Given the description of an element on the screen output the (x, y) to click on. 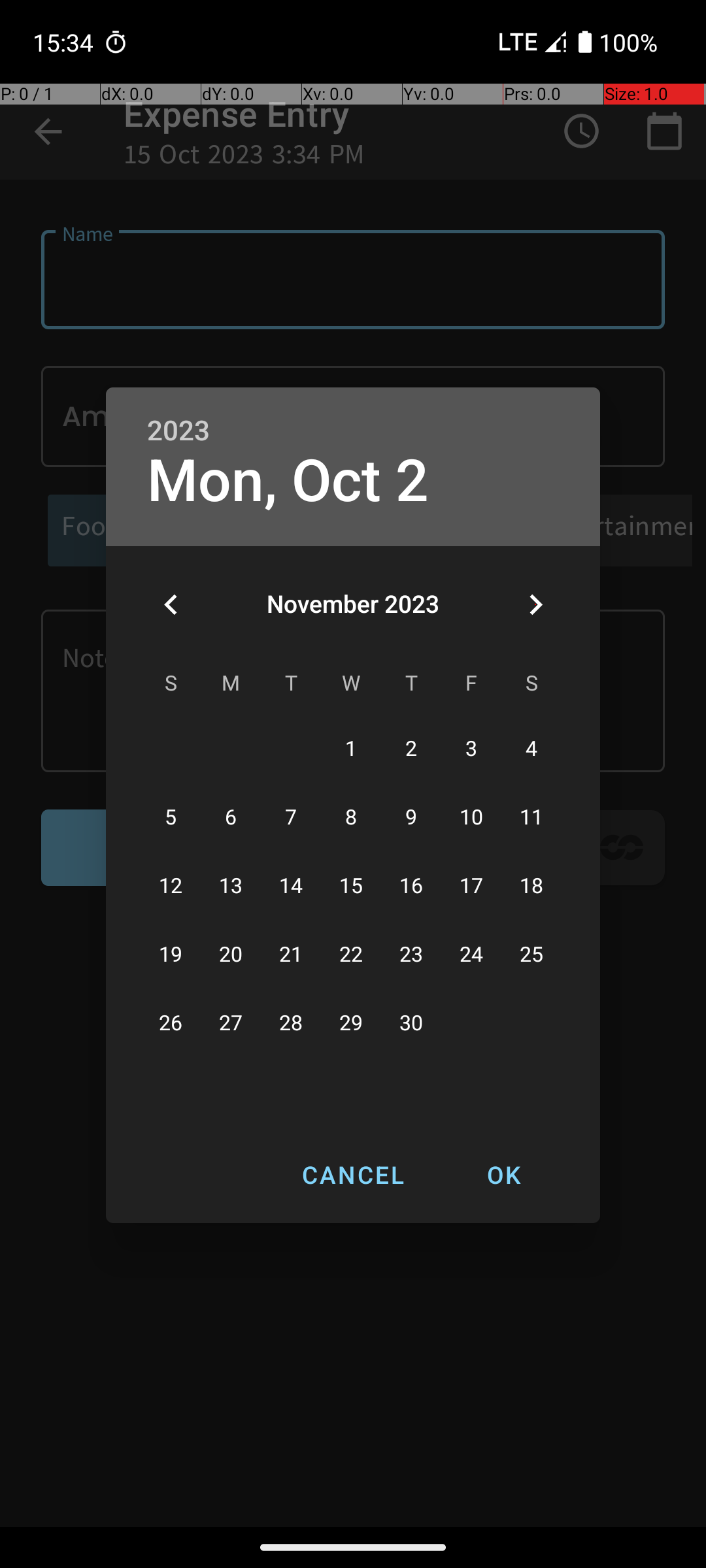
Mon, Oct 2 Element type: android.widget.TextView (287, 480)
